Given the description of an element on the screen output the (x, y) to click on. 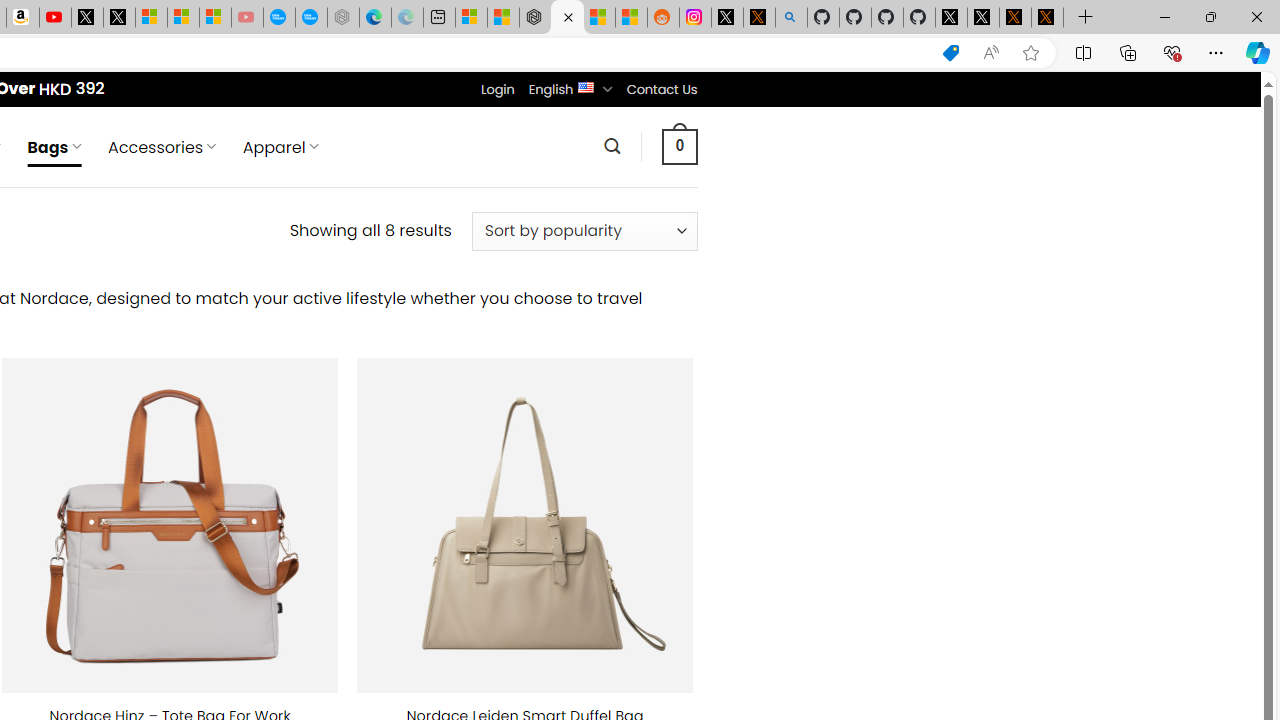
Gloom - YouTube - Sleeping (246, 17)
help.x.com | 524: A timeout occurred (758, 17)
Login (497, 89)
Contact Us (661, 89)
Opinion: Op-Ed and Commentary - USA TODAY (279, 17)
Shop order (584, 231)
